Given the description of an element on the screen output the (x, y) to click on. 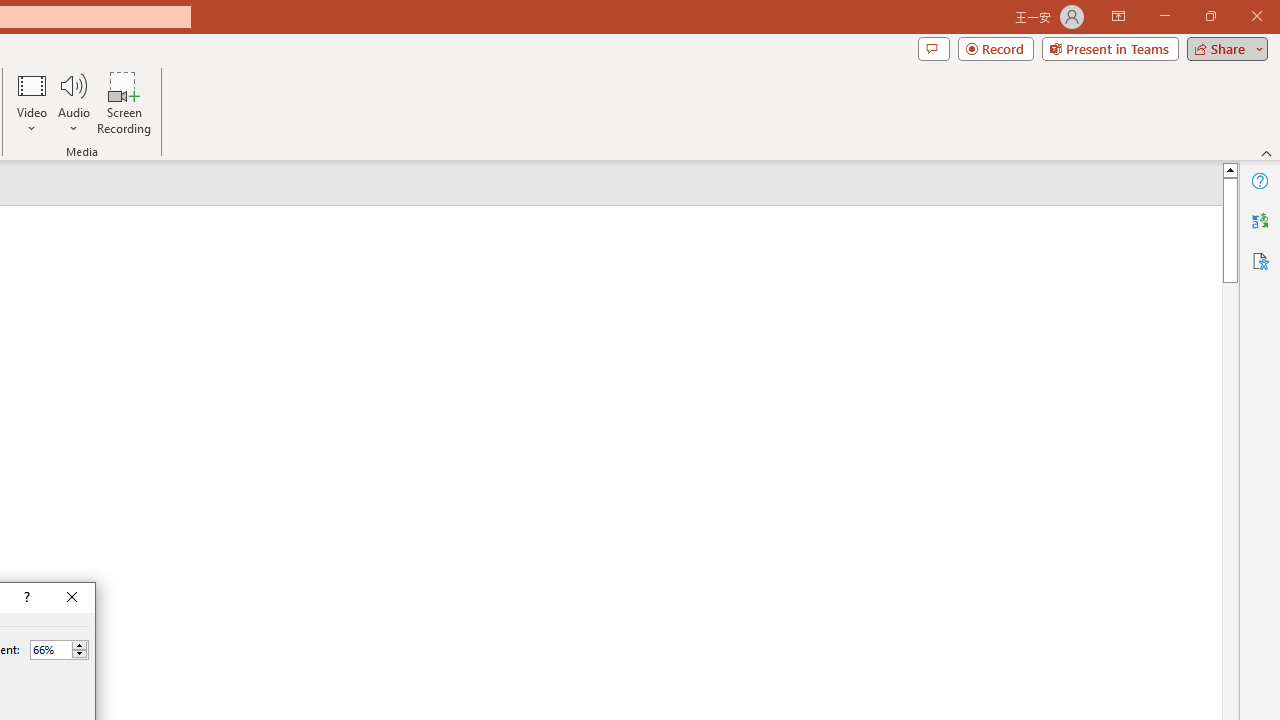
Percent (50, 649)
Percent (59, 650)
